Given the description of an element on the screen output the (x, y) to click on. 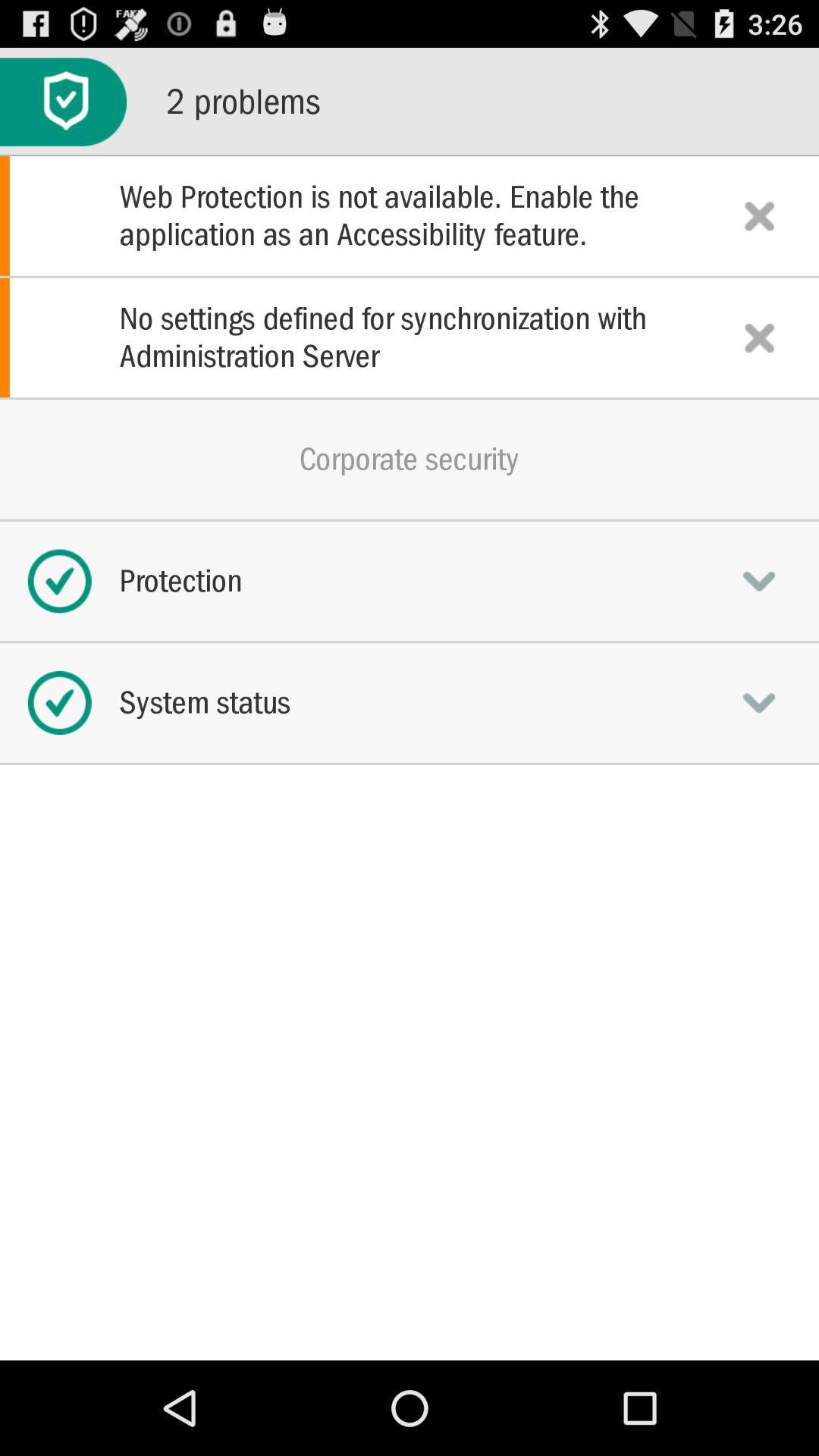
view system status tab (759, 702)
